Given the description of an element on the screen output the (x, y) to click on. 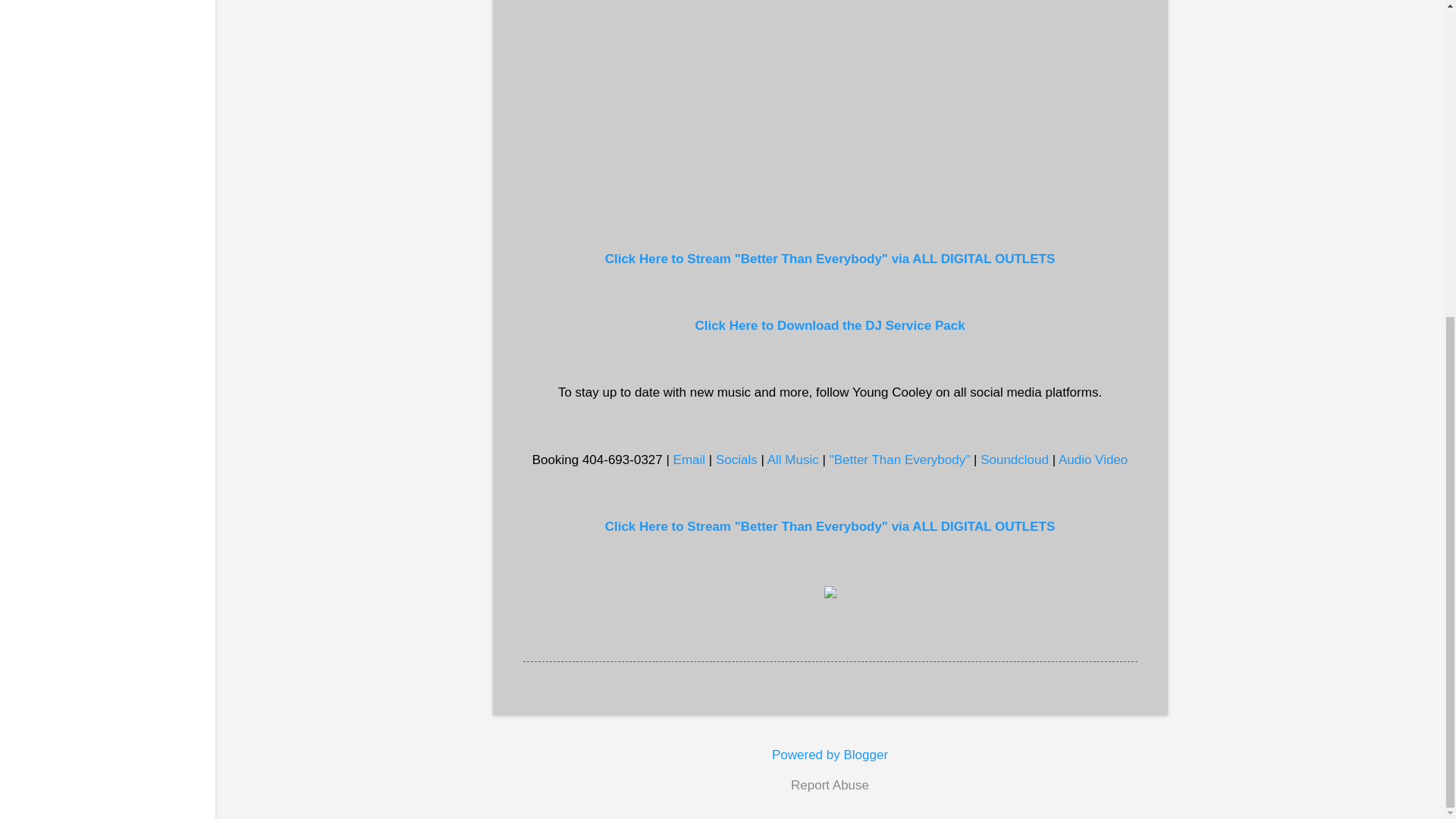
Audio Video (1092, 459)
Socials (736, 459)
All Music (792, 459)
Soundcloud (1013, 459)
Report Abuse (829, 785)
Click Here to Download the DJ Service Pack (828, 325)
"Better Than Everybody" (900, 459)
Powered by Blogger (829, 754)
